Given the description of an element on the screen output the (x, y) to click on. 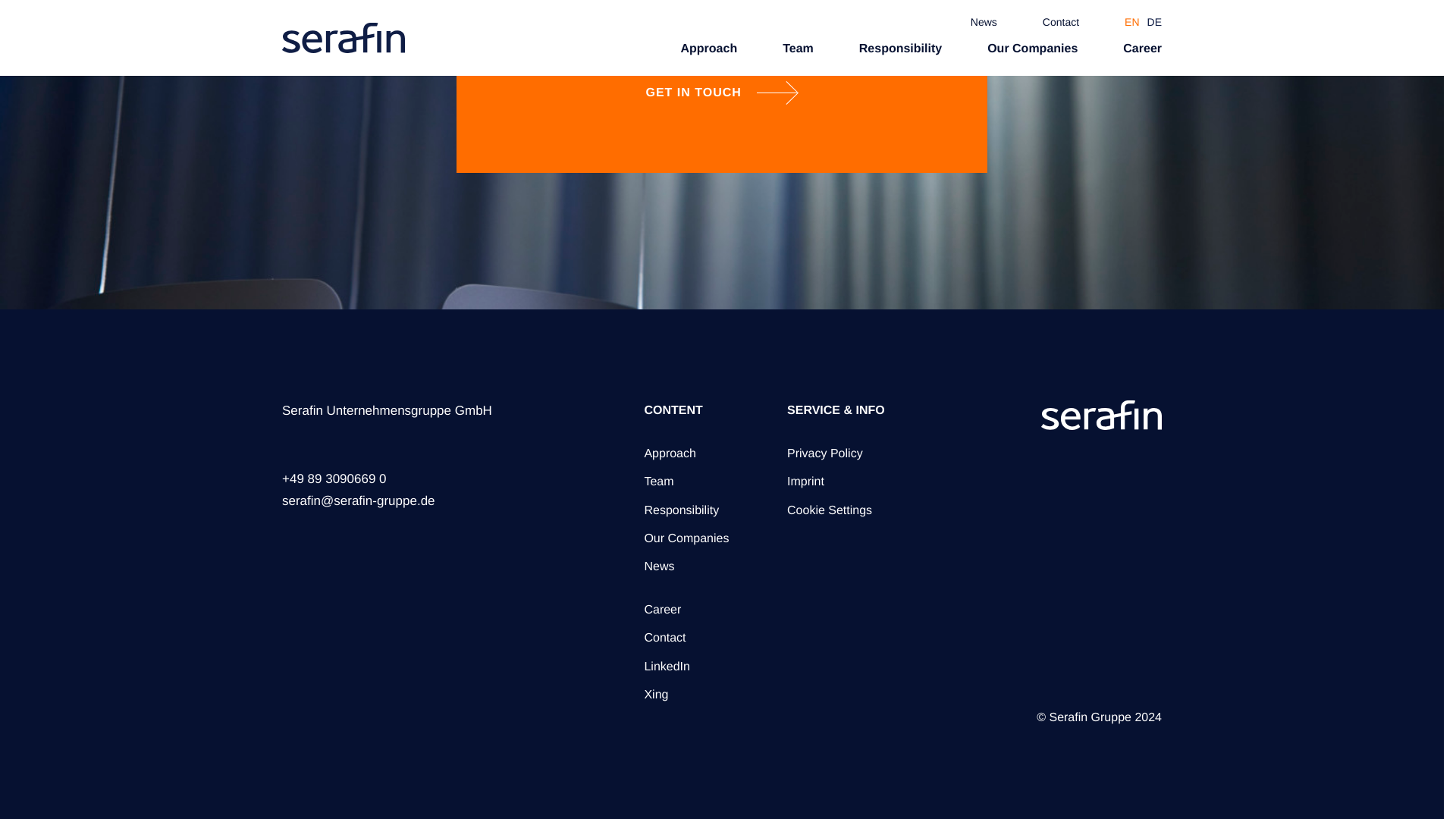
GET IN TOUCH (722, 92)
Imprint (805, 481)
Xing (655, 694)
Contact (664, 637)
Privacy Policy (825, 453)
News (658, 566)
Approach (669, 453)
LinkedIn (666, 666)
Responsibility (681, 510)
Our Companies (686, 538)
